Given the description of an element on the screen output the (x, y) to click on. 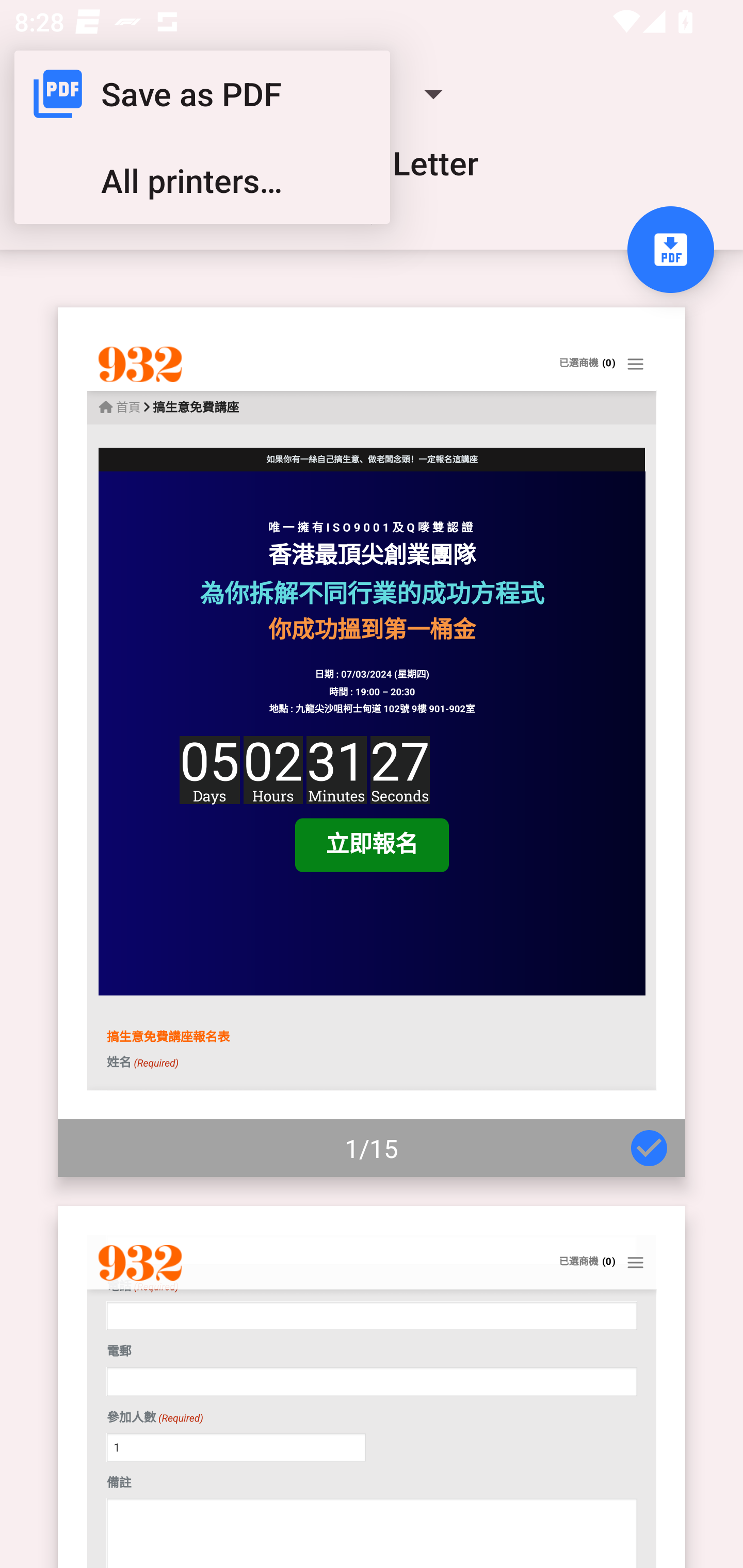
Save as PDF (202, 93)
All printers… (202, 180)
